Given the description of an element on the screen output the (x, y) to click on. 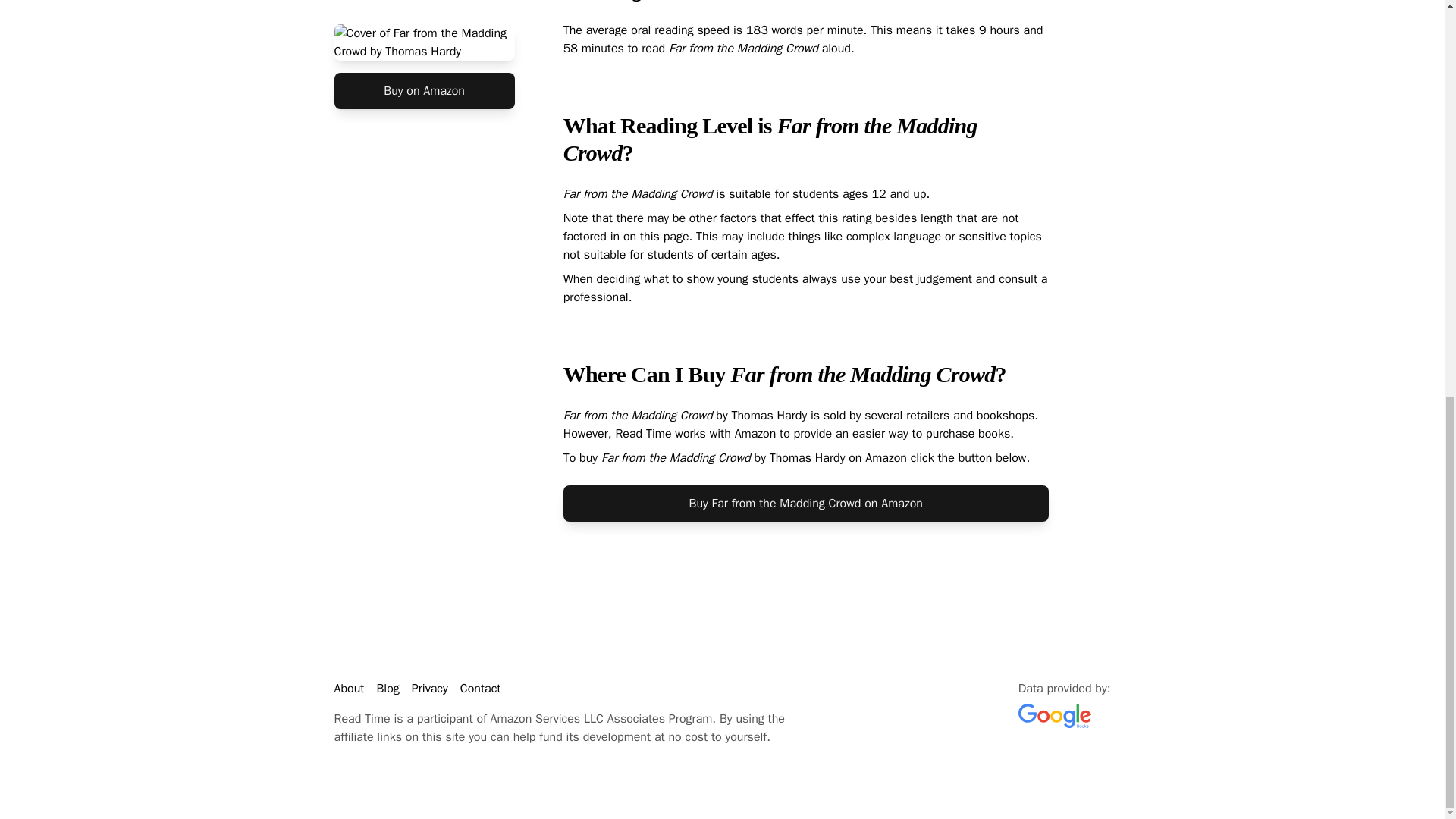
Privacy (430, 688)
Buy Far from the Madding Crowd on Amazon (805, 503)
About (348, 688)
Blog (386, 688)
Contact (480, 688)
